Given the description of an element on the screen output the (x, y) to click on. 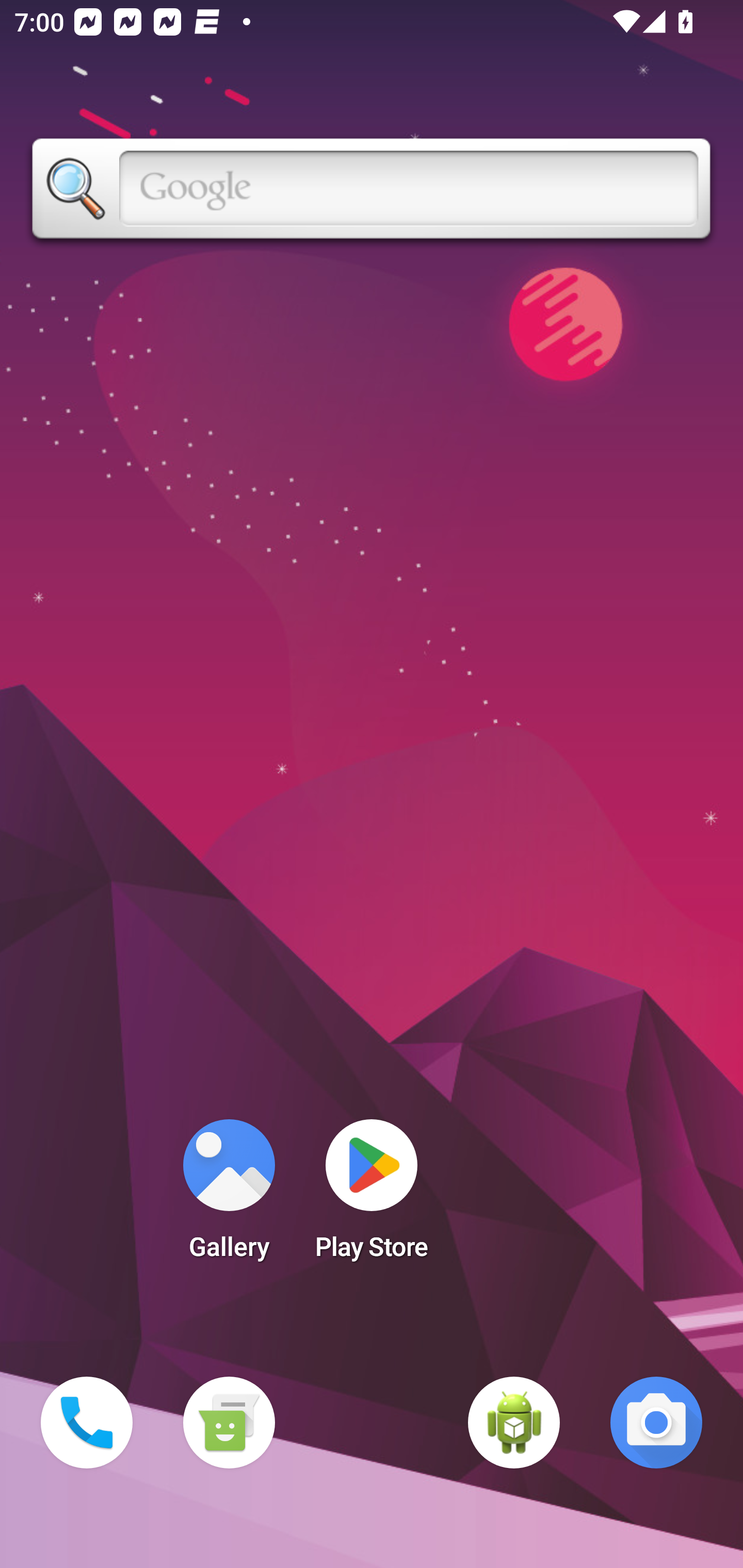
Gallery (228, 1195)
Play Store (371, 1195)
Phone (86, 1422)
Messaging (228, 1422)
WebView Browser Tester (513, 1422)
Camera (656, 1422)
